Given the description of an element on the screen output the (x, y) to click on. 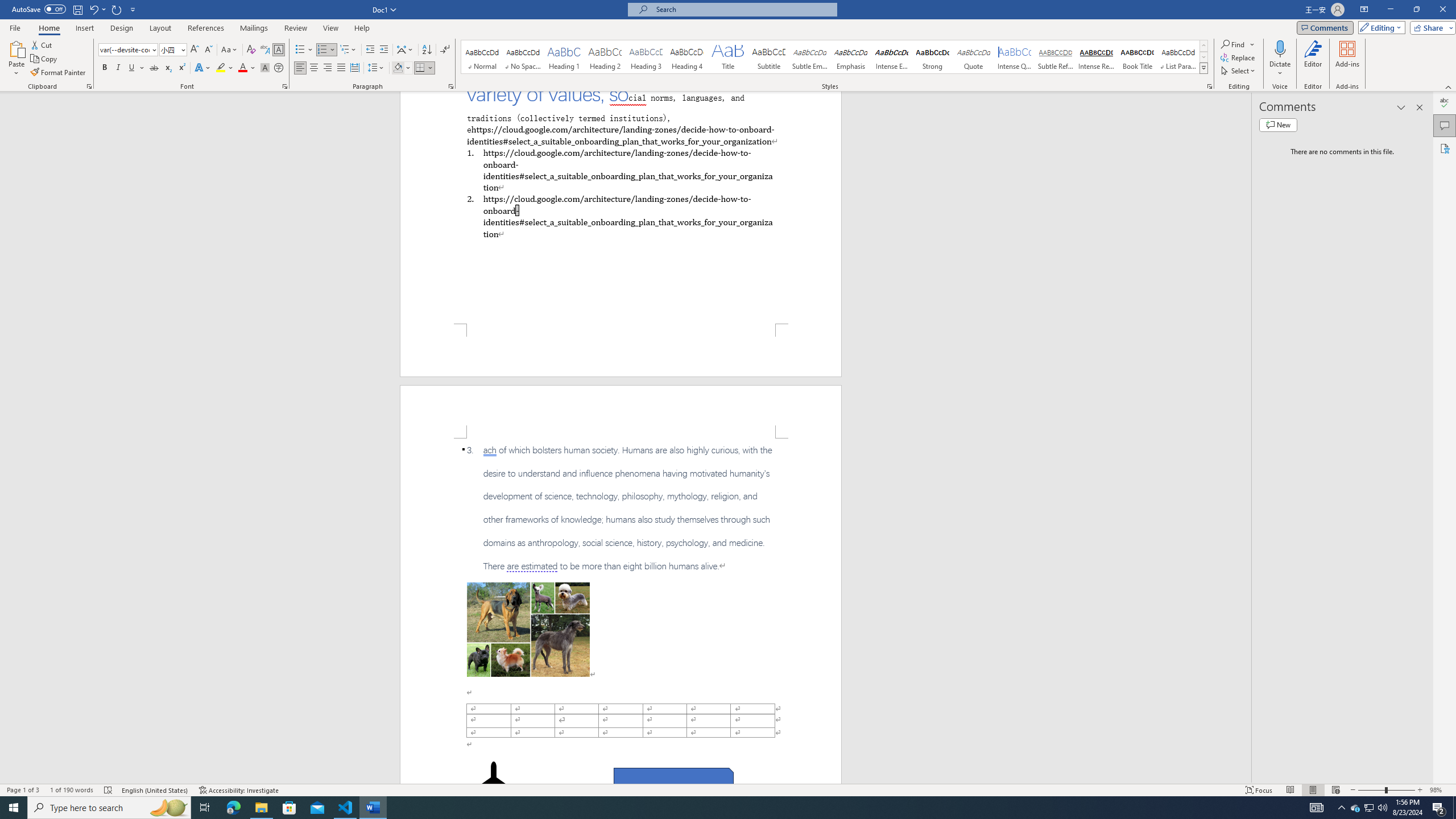
Superscript (180, 67)
Subtitle (768, 56)
Sort... (426, 49)
Rectangle: Diagonal Corners Snipped 2 (672, 781)
3. (620, 507)
Editing (1379, 27)
Language English (United States) (154, 790)
Phonetic Guide... (264, 49)
Justify (340, 67)
